Given the description of an element on the screen output the (x, y) to click on. 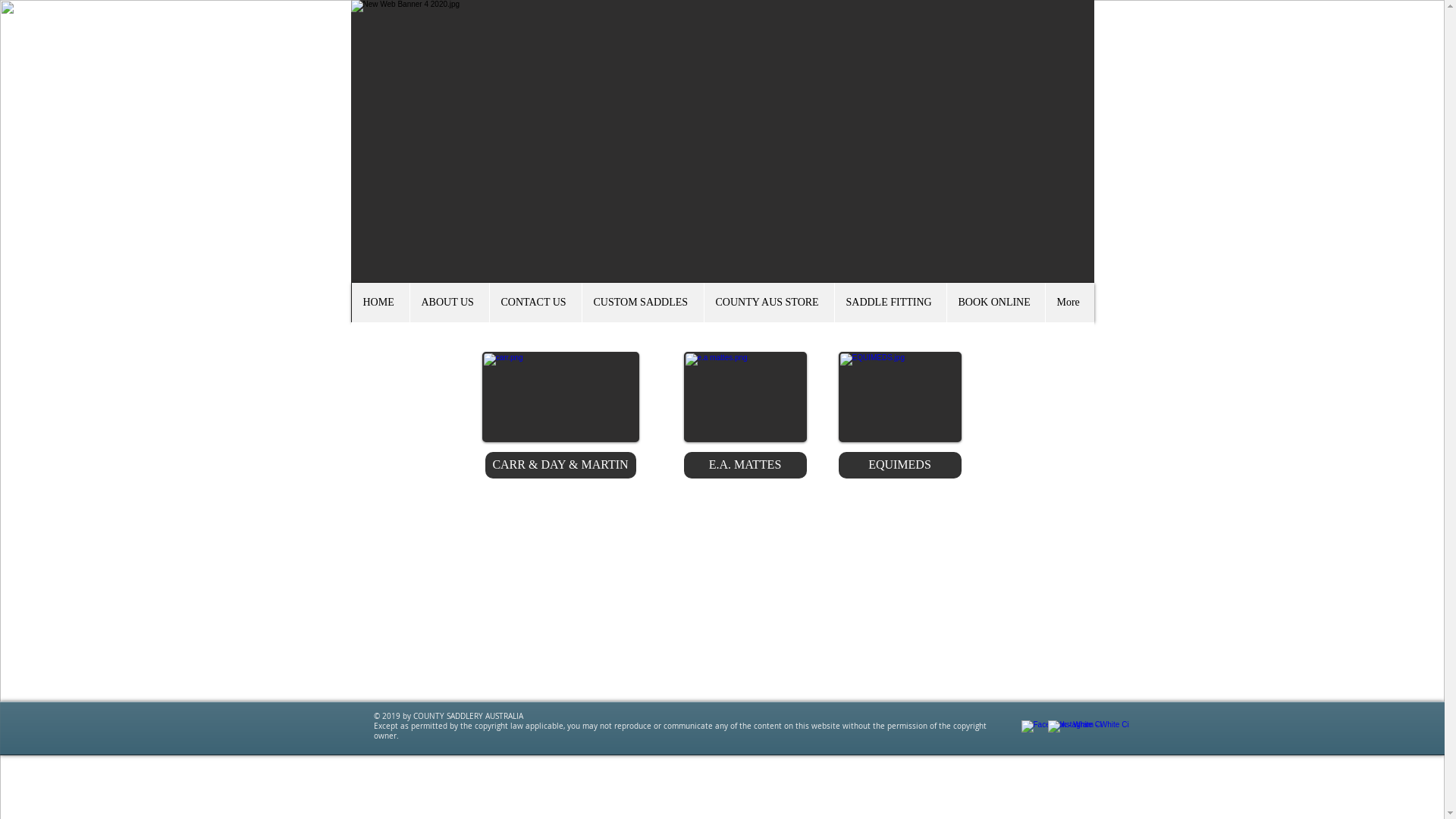
E.A. MATTES Element type: text (745, 464)
HOME Element type: text (380, 302)
CONTACT US Element type: text (534, 302)
CUSTOM SADDLES Element type: text (641, 302)
COUNTY AUS STORE Element type: text (768, 302)
CARR & DAY & MARTIN Element type: text (560, 464)
ABOUT US Element type: text (449, 302)
BOOK ONLINE Element type: text (995, 302)
SADDLE FITTING Element type: text (890, 302)
EQUIMEDS Element type: text (899, 464)
